Given the description of an element on the screen output the (x, y) to click on. 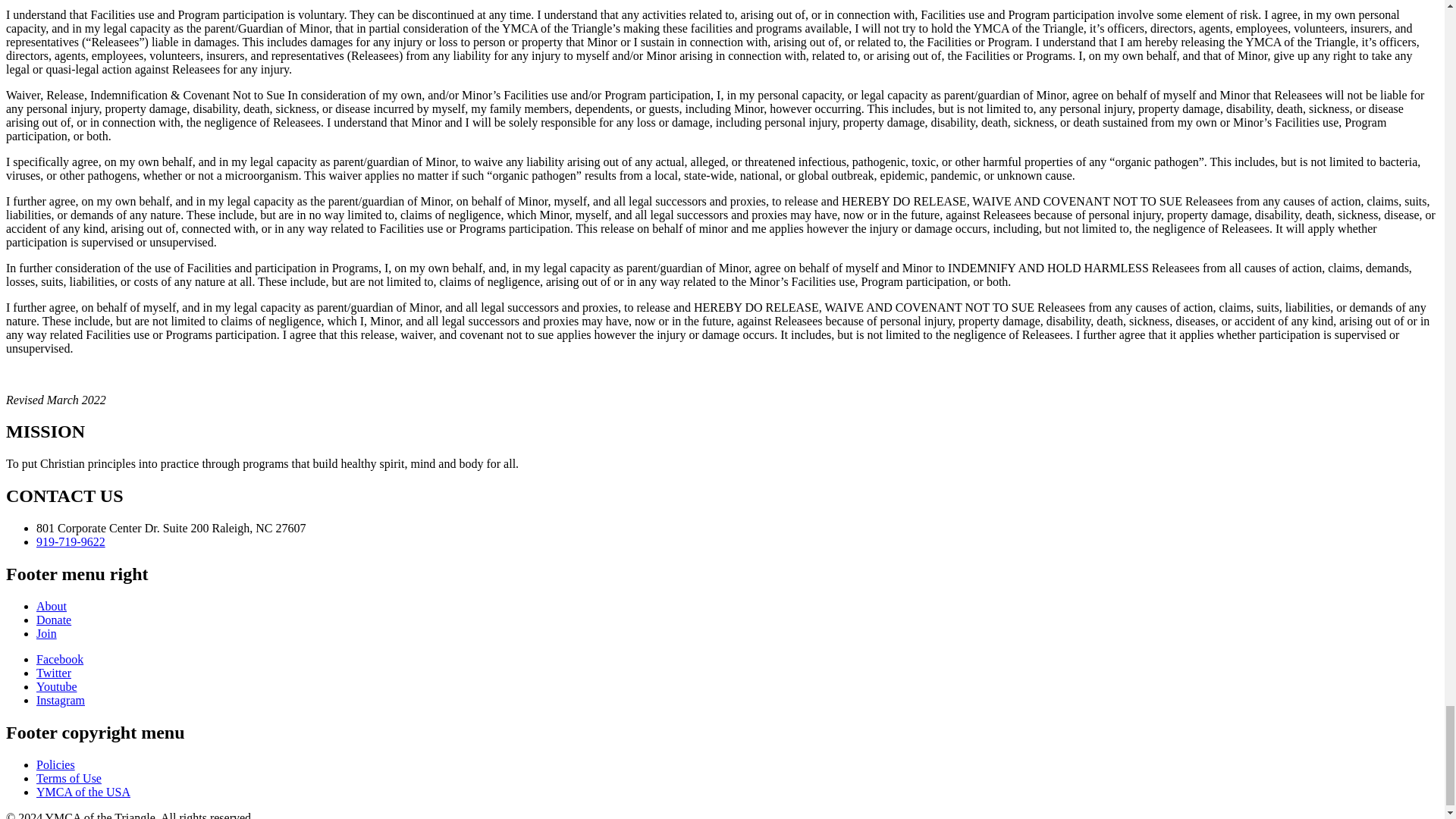
Go to YMCA Twitter (53, 672)
Go to YMCA Instagram channel (60, 699)
Go to YMCA Youtube channel (56, 686)
Go to YMCA Facebook (59, 658)
